Given the description of an element on the screen output the (x, y) to click on. 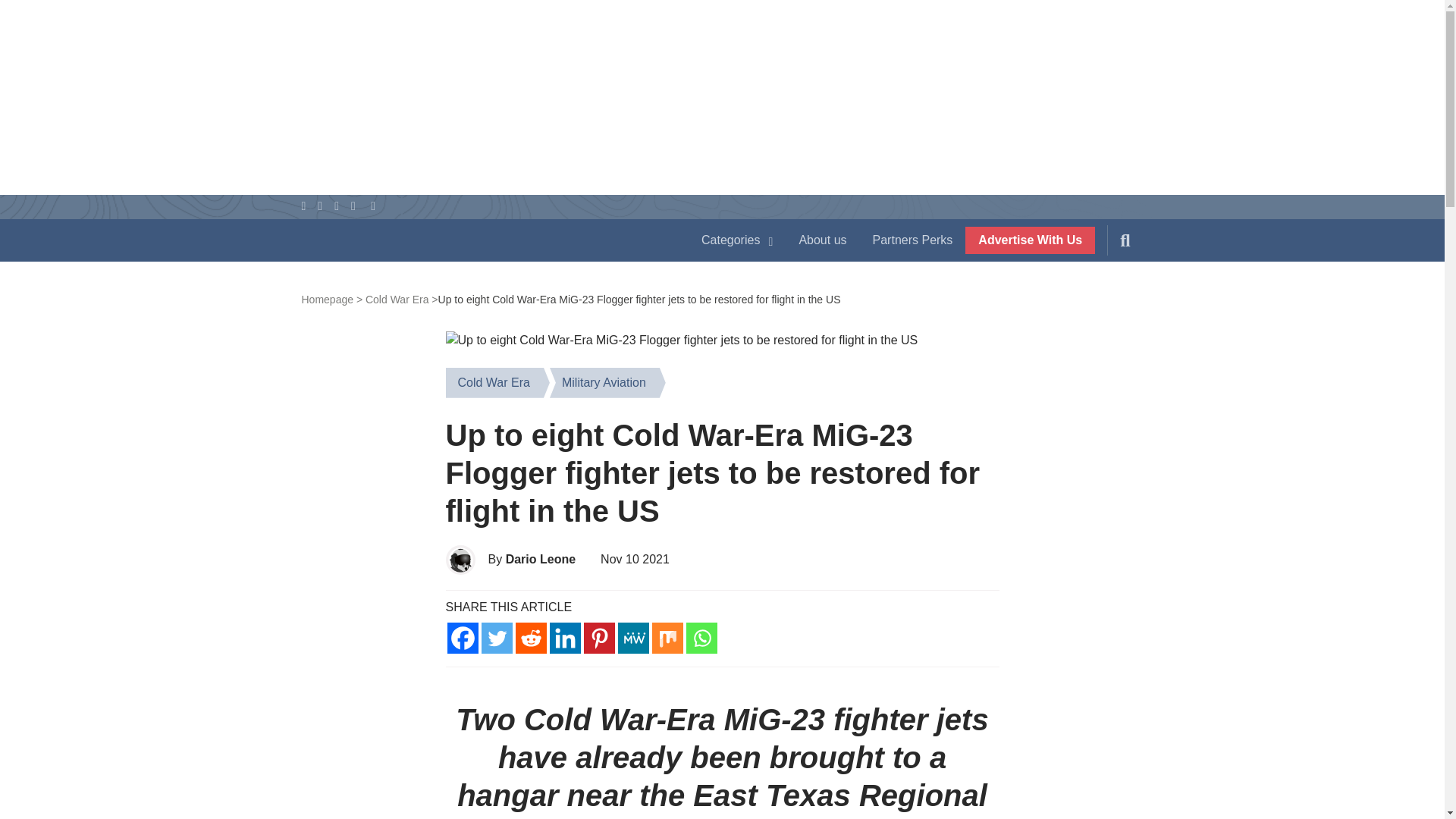
Back to homepage (331, 299)
Advertise With Us (1029, 239)
About us (822, 239)
Categories (737, 239)
Reddit (531, 637)
Facebook (462, 637)
Back to Home (485, 242)
Partners Perks (913, 239)
Twitter (496, 637)
